Given the description of an element on the screen output the (x, y) to click on. 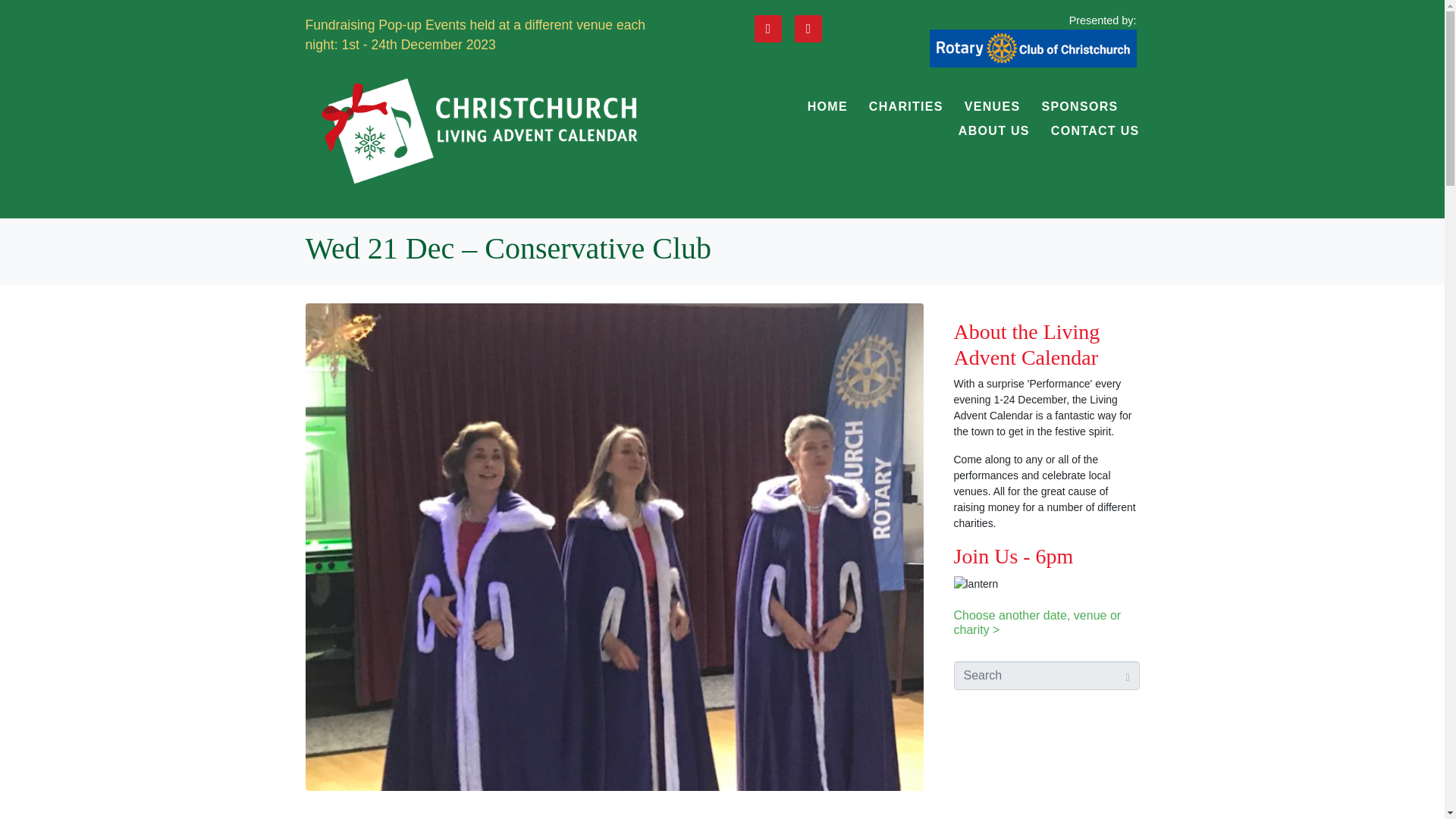
ABOUT US (993, 130)
HOME (827, 106)
CHARITIES (906, 106)
VENUES (991, 106)
CONTACT US (1095, 130)
SPONSORS (1079, 106)
